Given the description of an element on the screen output the (x, y) to click on. 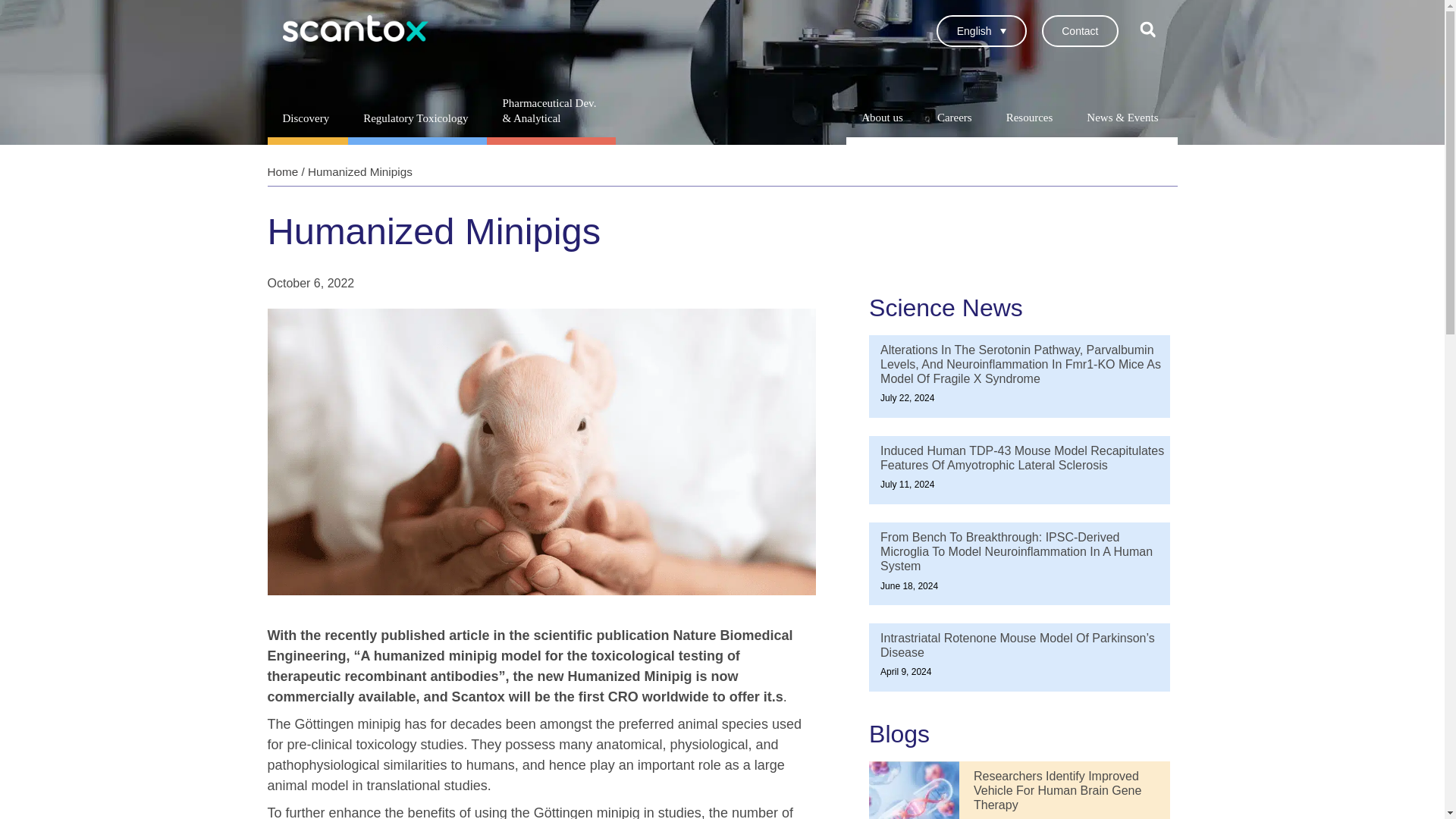
English (981, 30)
Contact (1080, 30)
Discovery (306, 118)
